Given the description of an element on the screen output the (x, y) to click on. 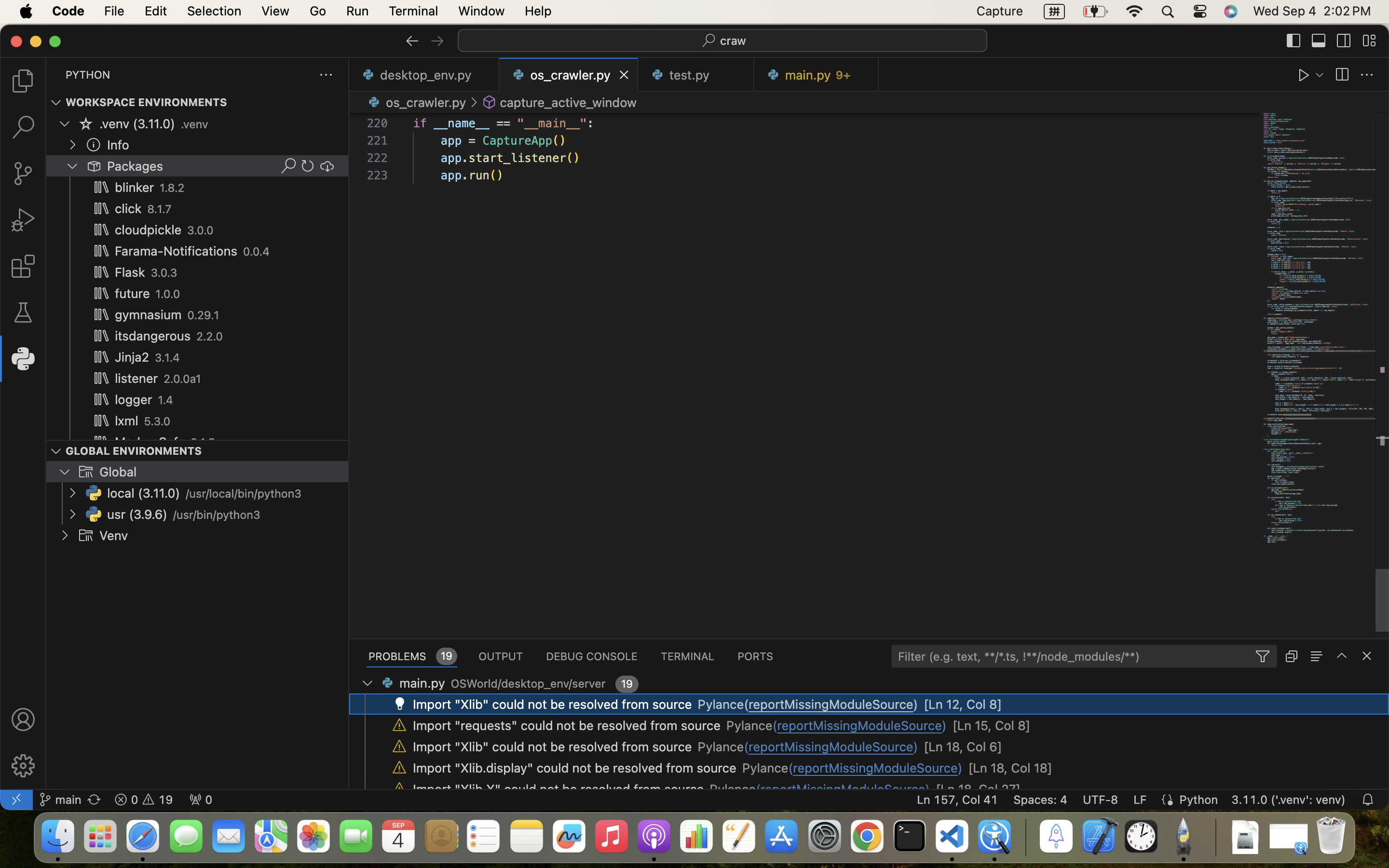
 Element type: AXGroup (1303, 74)
local (3.11.0) Element type: AXStaticText (143, 493)
craw Element type: AXStaticText (733, 40)
 Element type: AXStaticText (85, 471)
0 PORTS Element type: AXRadioButton (755, 655)
